Given the description of an element on the screen output the (x, y) to click on. 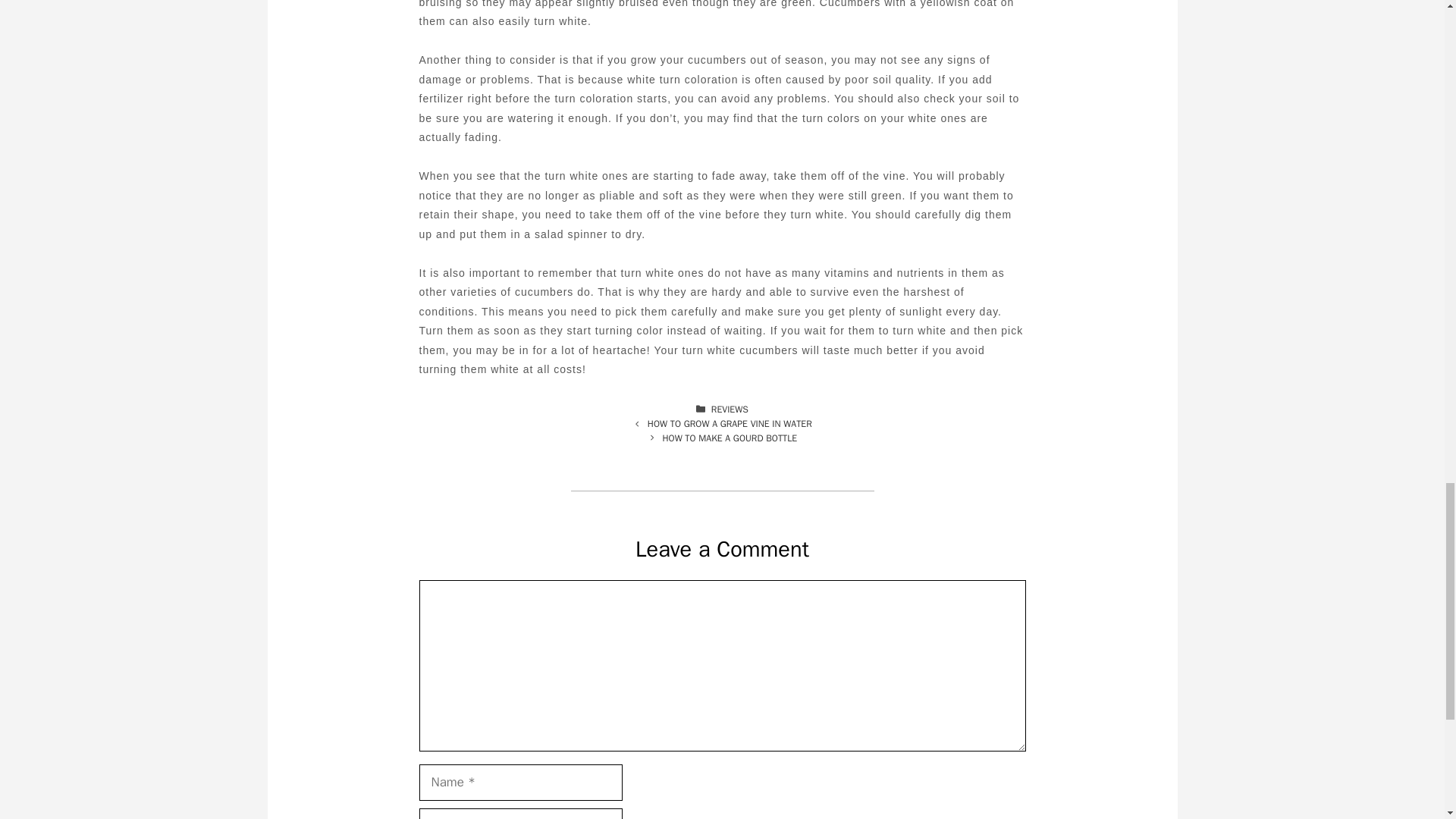
Previous (729, 423)
REVIEWS (729, 409)
HOW TO GROW A GRAPE VINE IN WATER (729, 423)
HOW TO MAKE A GOURD BOTTLE (729, 438)
Next (729, 438)
